Given the description of an element on the screen output the (x, y) to click on. 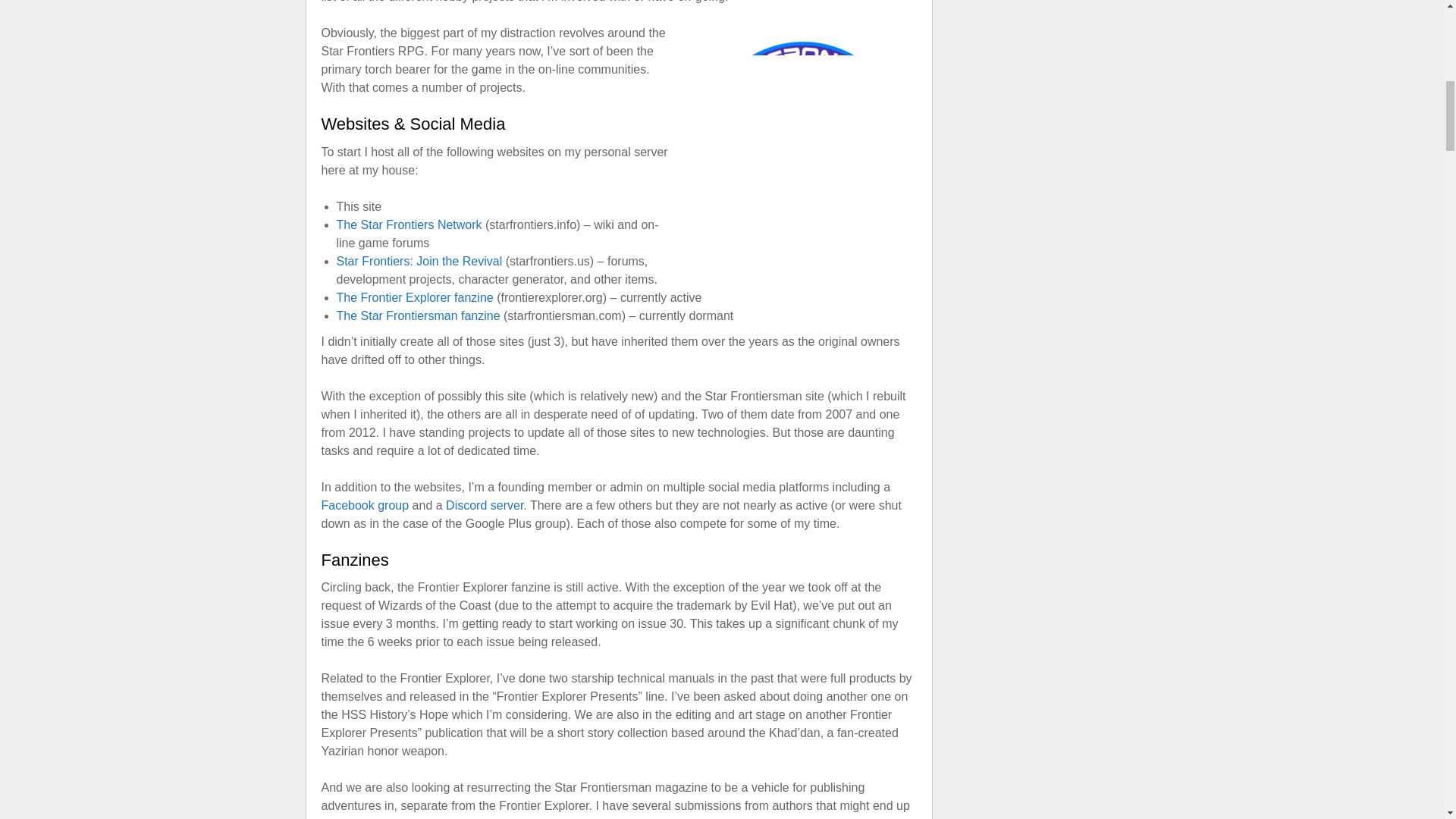
Star Frontiers: Join the Revival (419, 260)
The Star Frontiersman fanzine (418, 315)
Discord server (483, 504)
The Star Frontiers Network (408, 224)
Facebook group (365, 504)
The Frontier Explorer fanzine (414, 297)
